Given the description of an element on the screen output the (x, y) to click on. 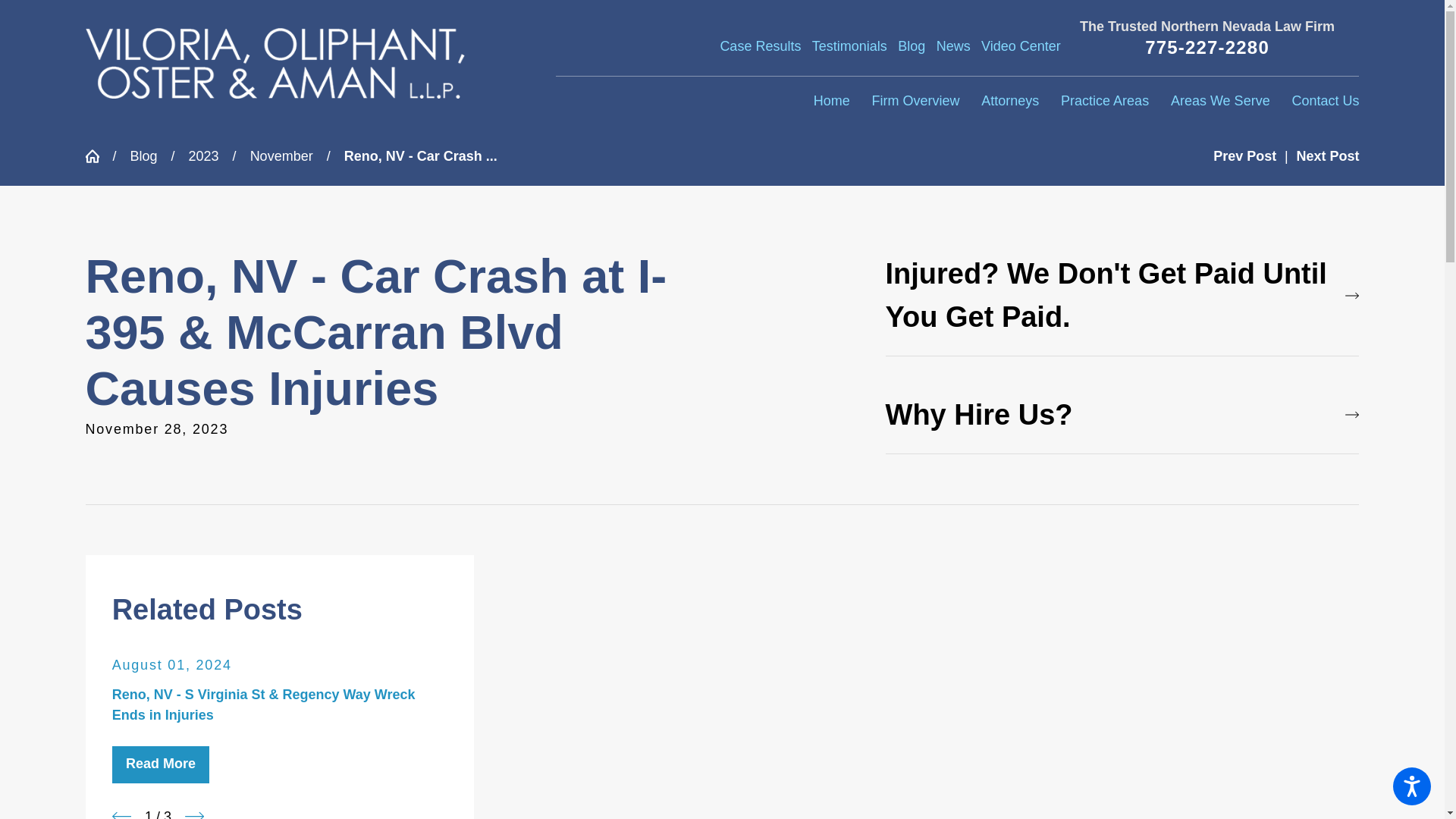
Blog (911, 46)
Case Results (759, 46)
News (953, 46)
Practice Areas (1104, 101)
Go Home (98, 155)
Video Center (1021, 46)
View next item (193, 812)
Open the accessibility options menu (1412, 786)
View previous item (121, 812)
Firm Overview (914, 101)
Attorneys (1010, 101)
775-227-2280 (1207, 47)
Testimonials (849, 46)
